Given the description of an element on the screen output the (x, y) to click on. 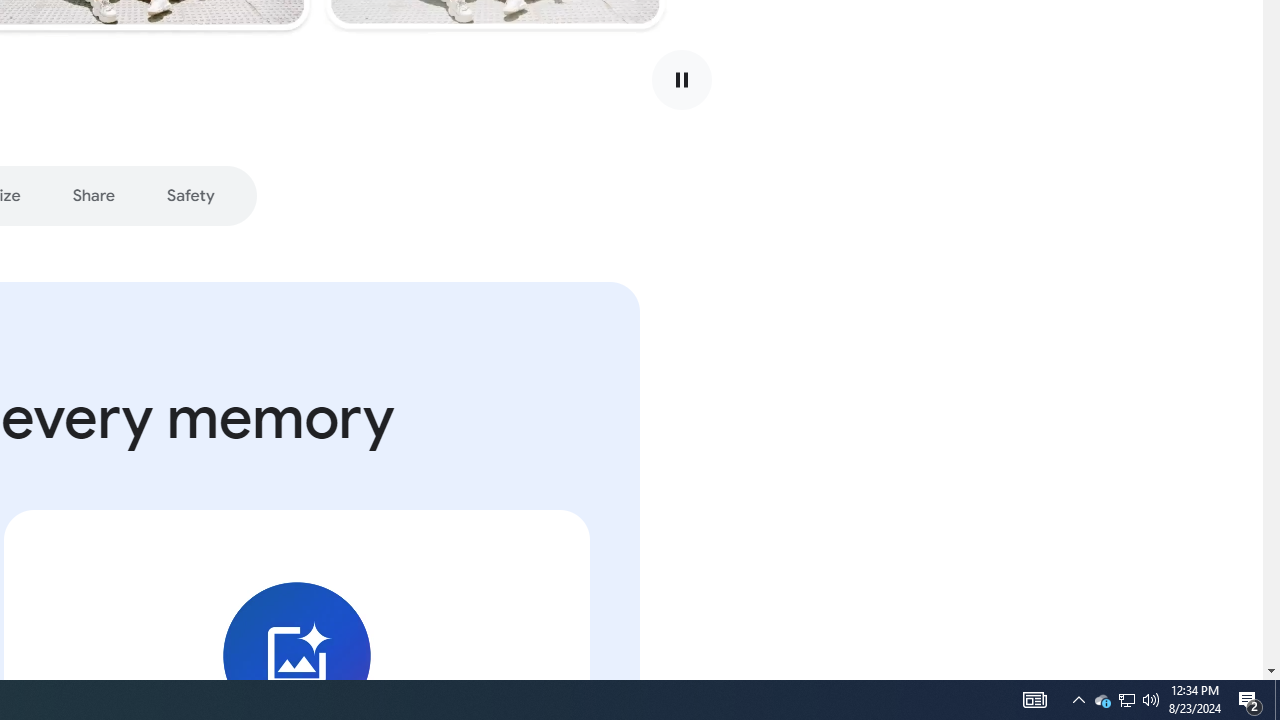
Go to section: Share (92, 196)
Download the Google Photos app (318, 196)
Play video (681, 79)
Go to section: Safety (189, 196)
